Given the description of an element on the screen output the (x, y) to click on. 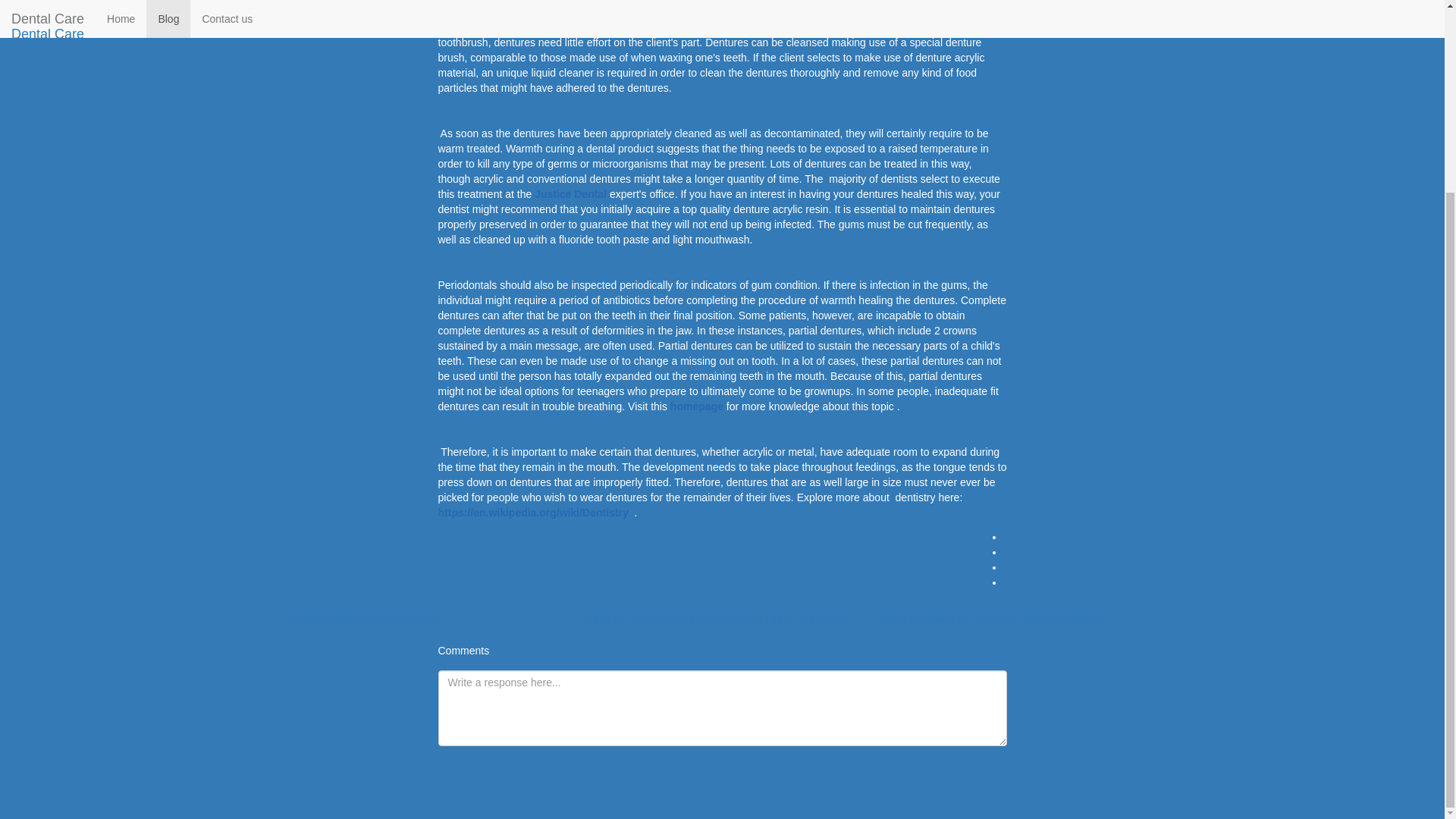
Justice Dental  (572, 193)
homepage (696, 406)
Pearly Whites Whitening Service (366, 620)
What to Expect From a Pearly Whites Lightening Service (718, 620)
What to Search for in a Teeth Bleaching Solution (994, 620)
